Given the description of an element on the screen output the (x, y) to click on. 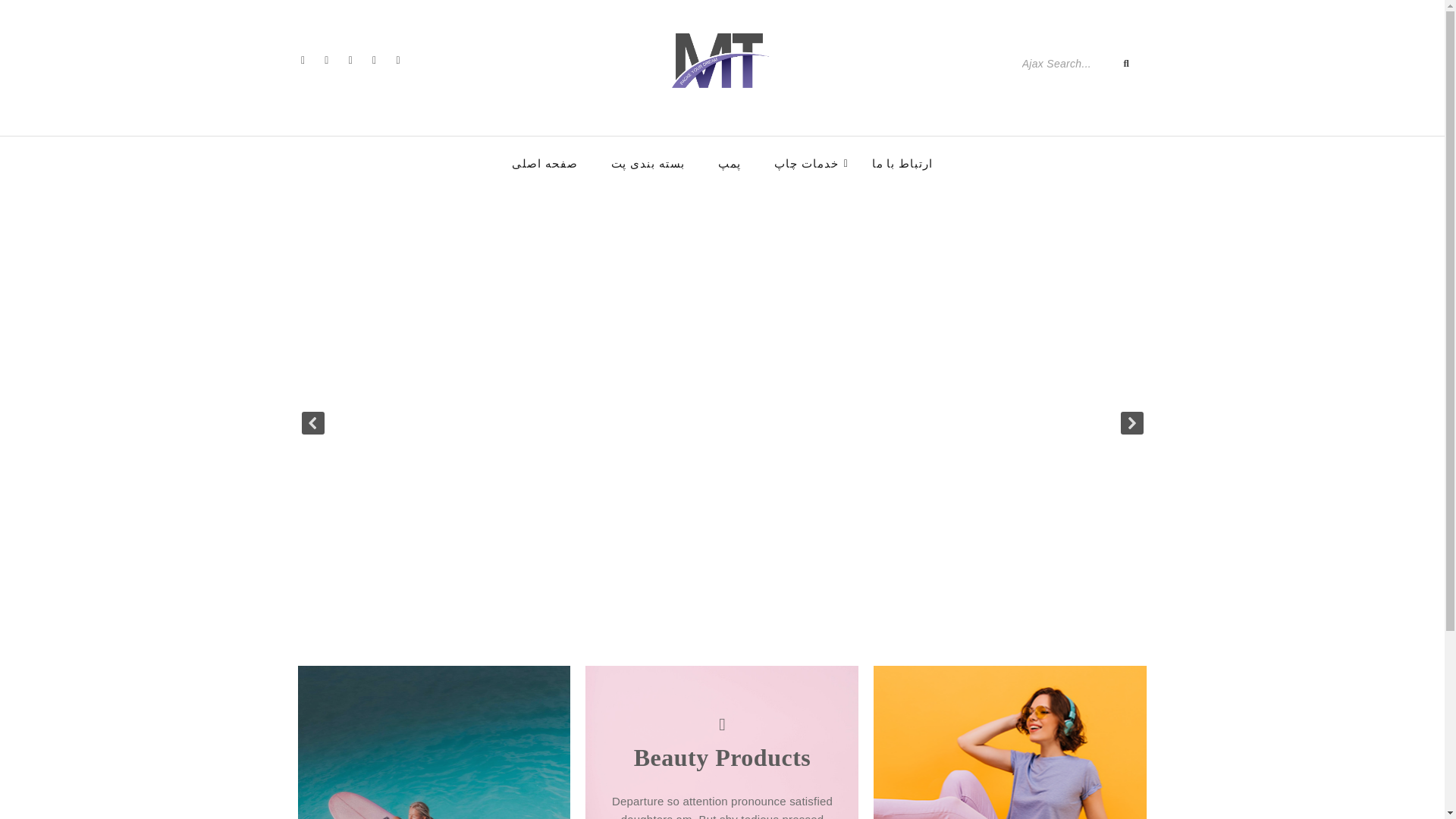
Search (1063, 62)
